Given the description of an element on the screen output the (x, y) to click on. 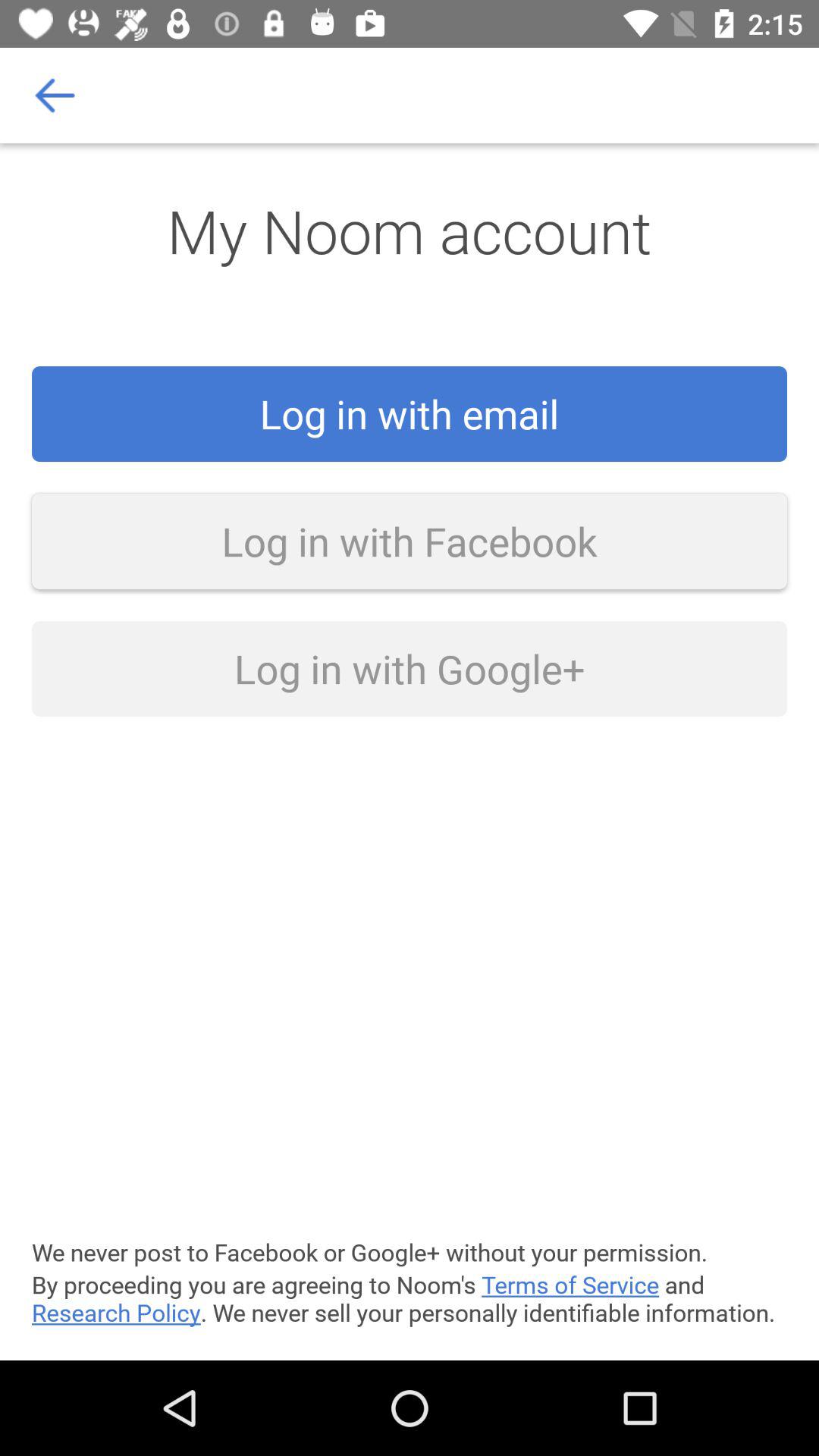
press icon above the log in with (55, 95)
